Given the description of an element on the screen output the (x, y) to click on. 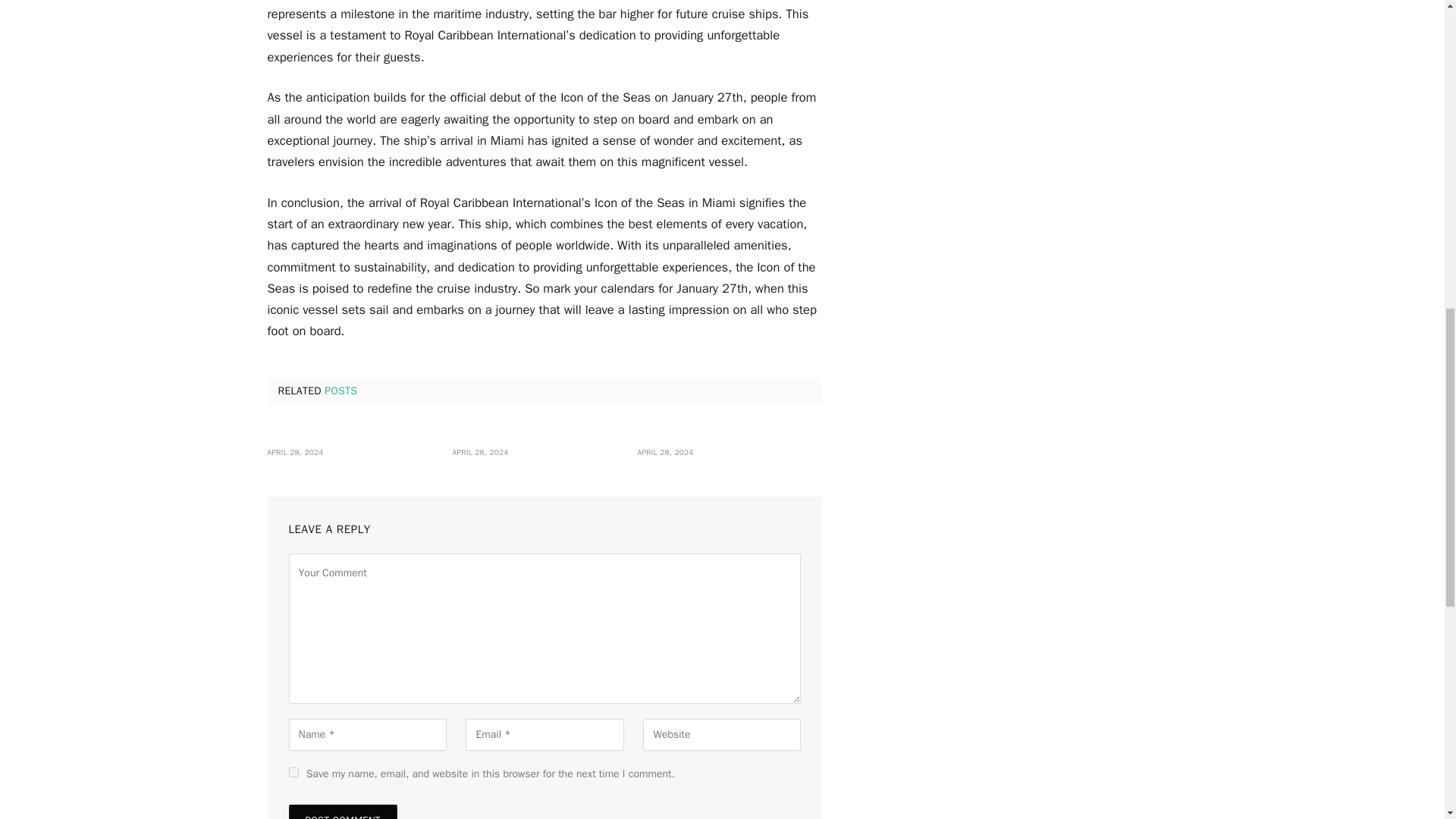
yes (293, 772)
Post Comment (342, 811)
